Given the description of an element on the screen output the (x, y) to click on. 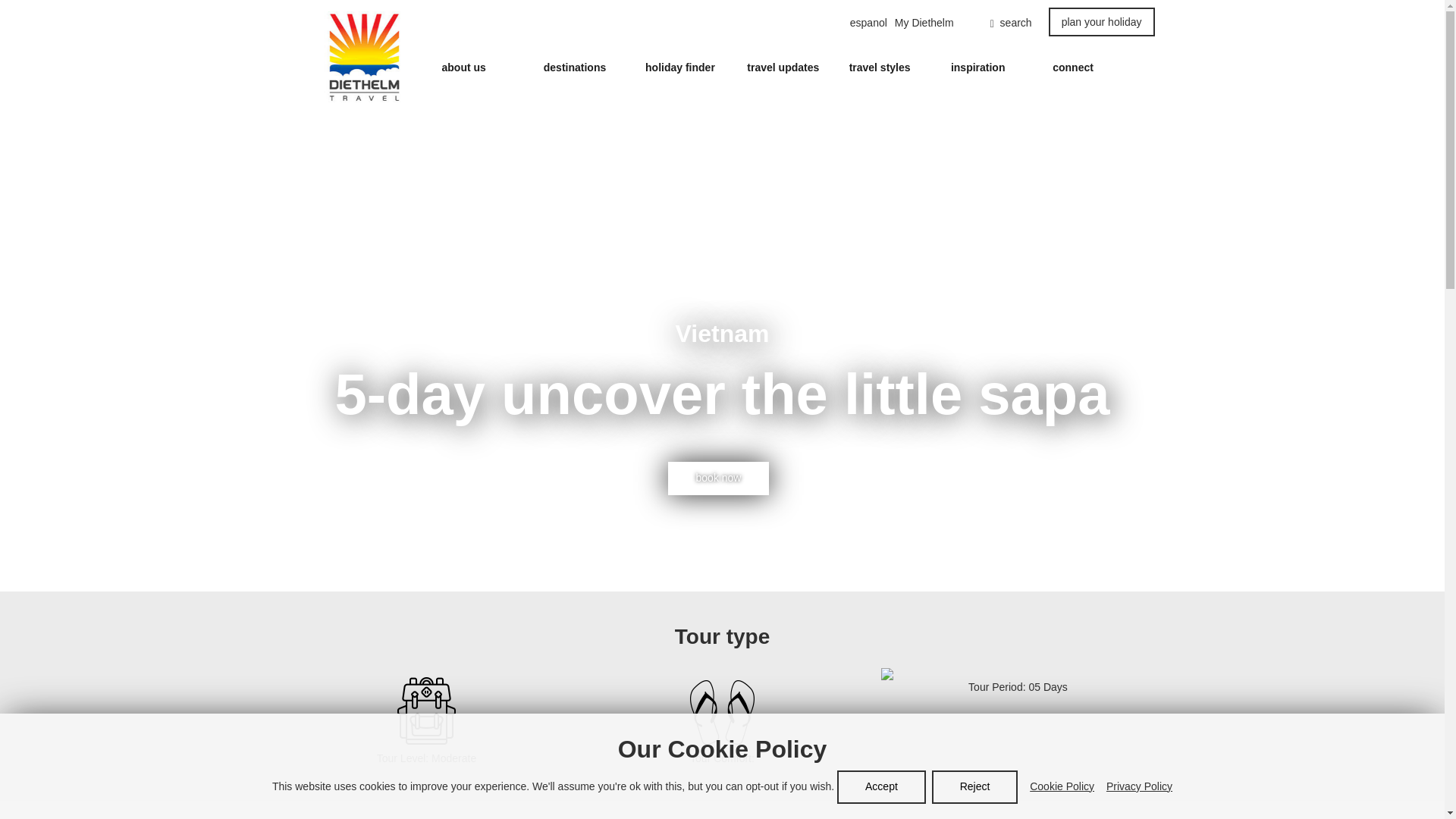
My Diethelm (924, 22)
espanol (868, 22)
espanol (868, 22)
destinations (574, 66)
plan your holiday (1101, 21)
  search (995, 22)
holiday finder (679, 66)
about us (462, 66)
